Given the description of an element on the screen output the (x, y) to click on. 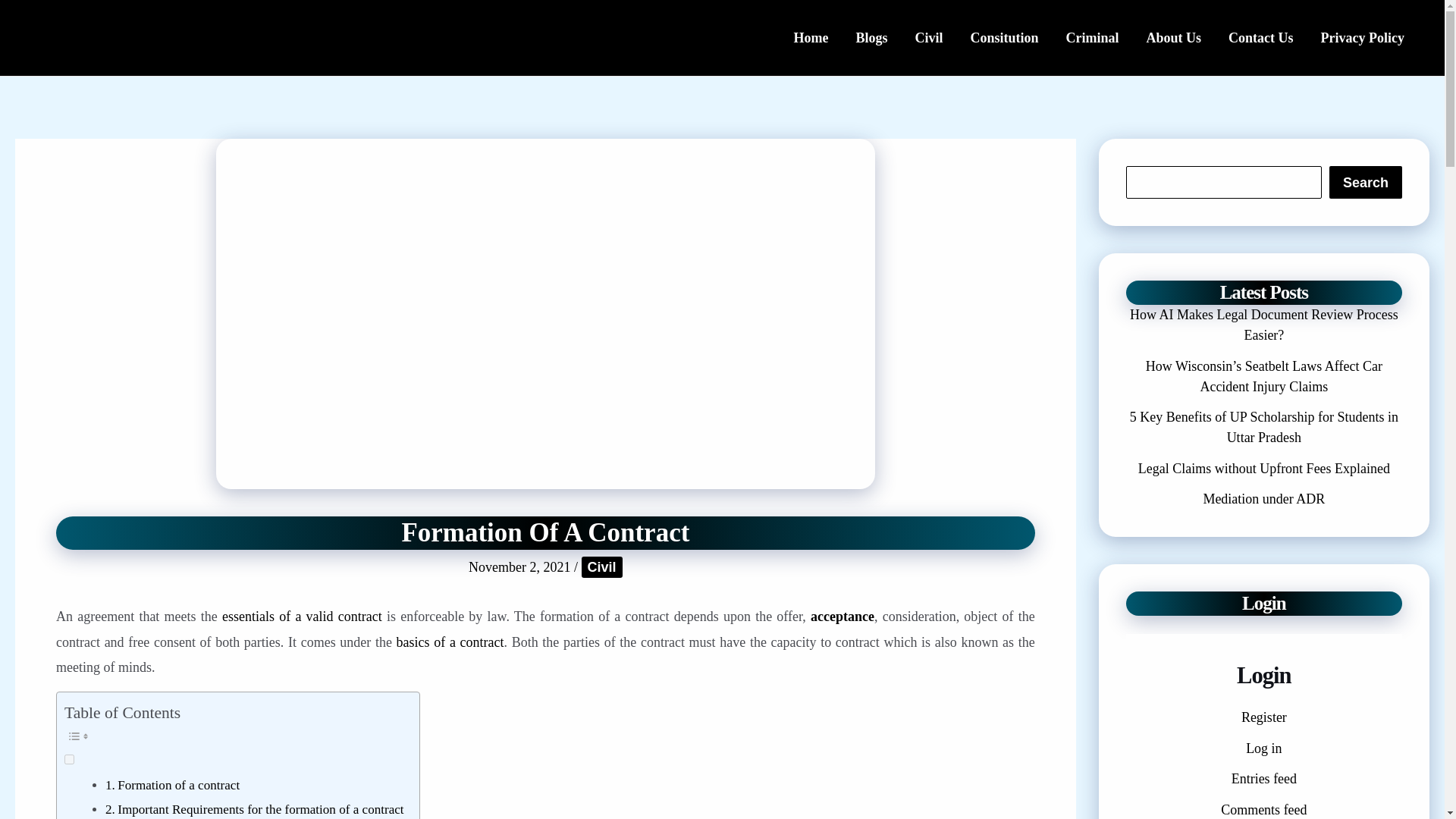
Civil (601, 567)
on (69, 759)
Blogs (871, 37)
Consitution (1003, 37)
Contact Us (1260, 37)
About Us (1173, 37)
Privacy Policy (1362, 37)
Criminal (1092, 37)
essentials of a valid contract (301, 616)
acceptance (842, 616)
